Given the description of an element on the screen output the (x, y) to click on. 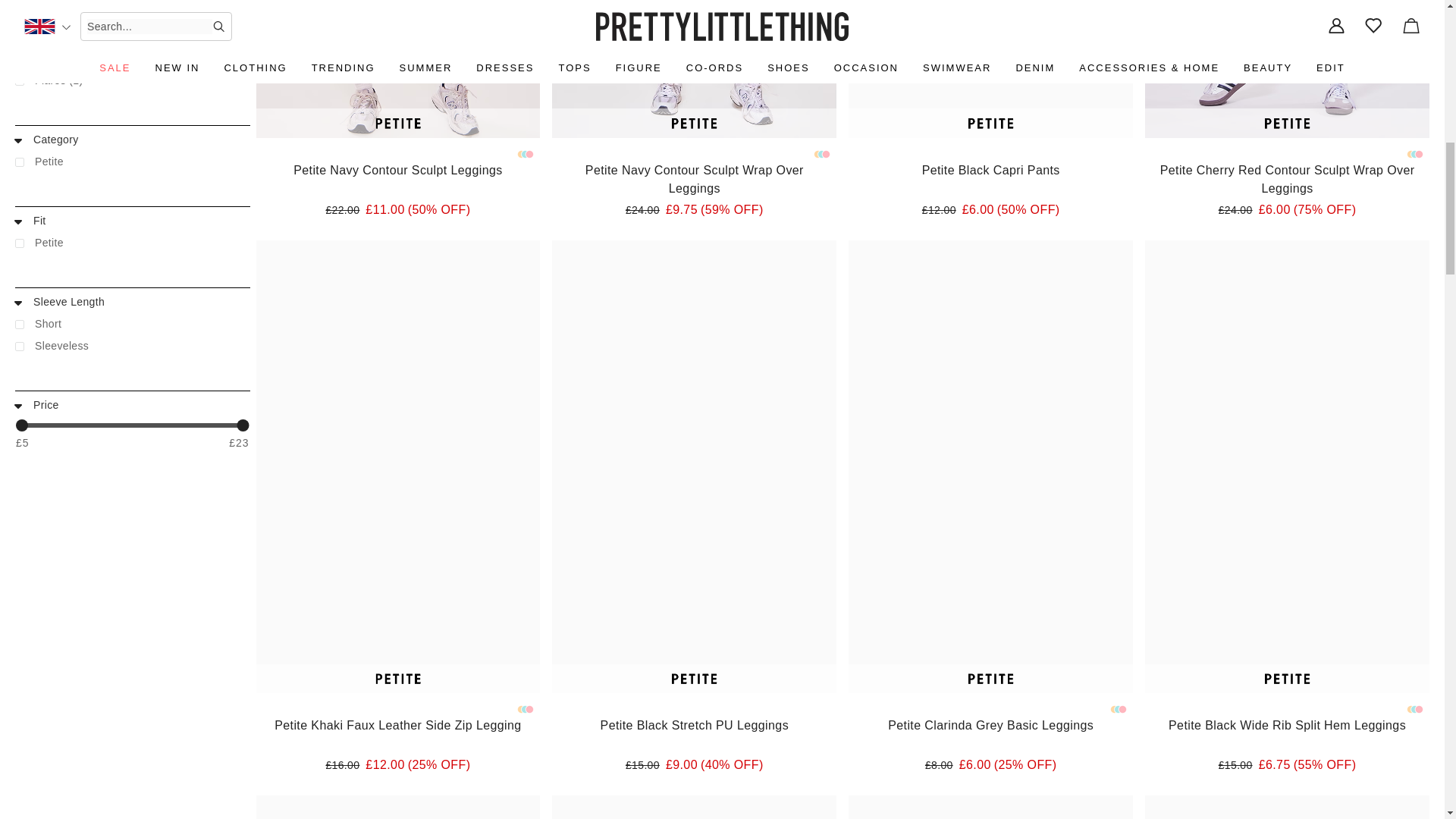
Petite (132, 164)
